Given the description of an element on the screen output the (x, y) to click on. 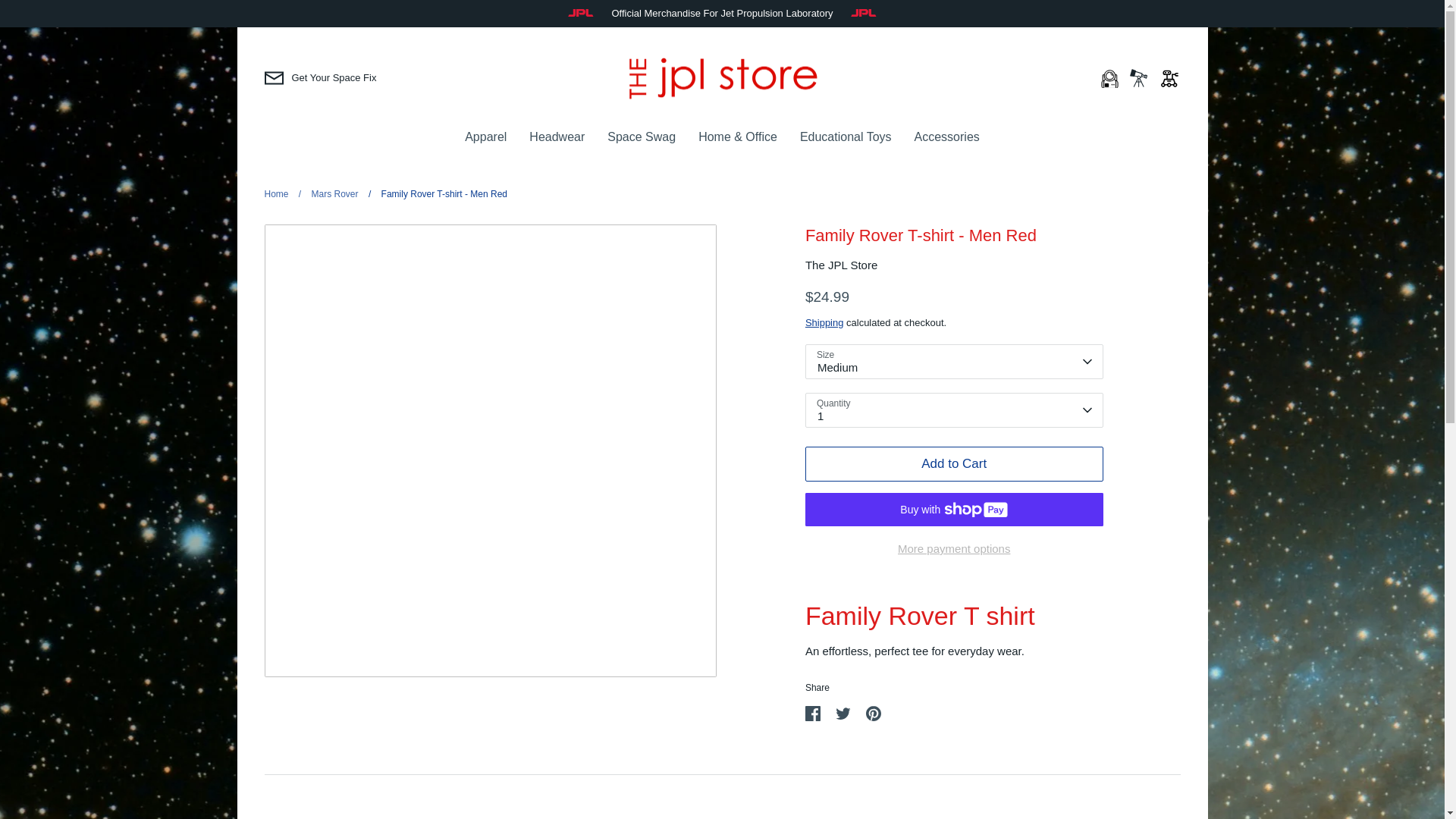
Search (1139, 76)
Get Your Space Fix (319, 77)
Apparel (485, 136)
Account (1107, 76)
Cart (1169, 76)
